Given the description of an element on the screen output the (x, y) to click on. 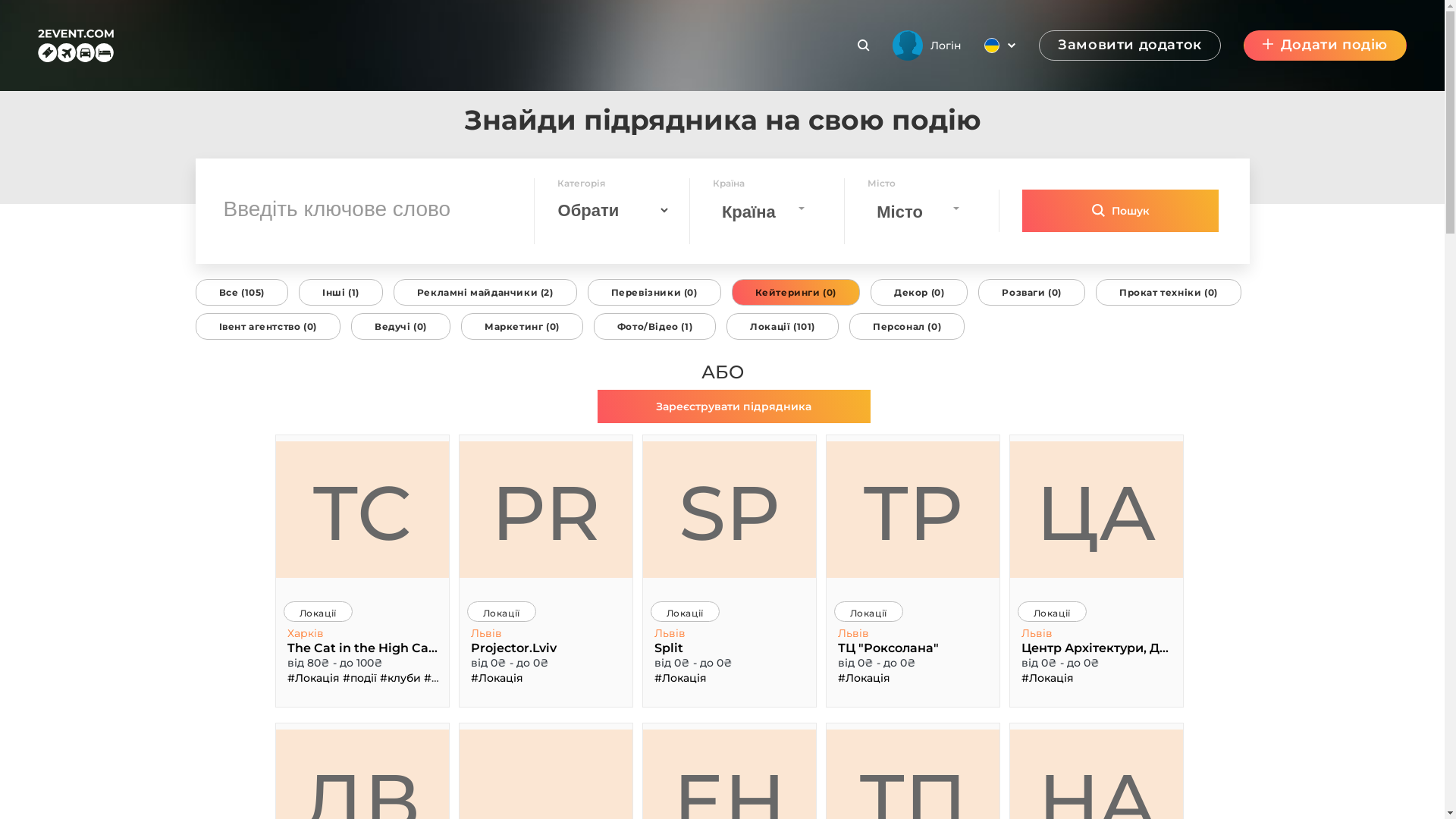
PR Element type: text (545, 509)
SP Element type: text (729, 509)
TC Element type: text (362, 509)
Projector.Lviv Element type: text (545, 647)
The Cat in the High Castle Element type: text (362, 647)
Split Element type: text (729, 647)
